Given the description of an element on the screen output the (x, y) to click on. 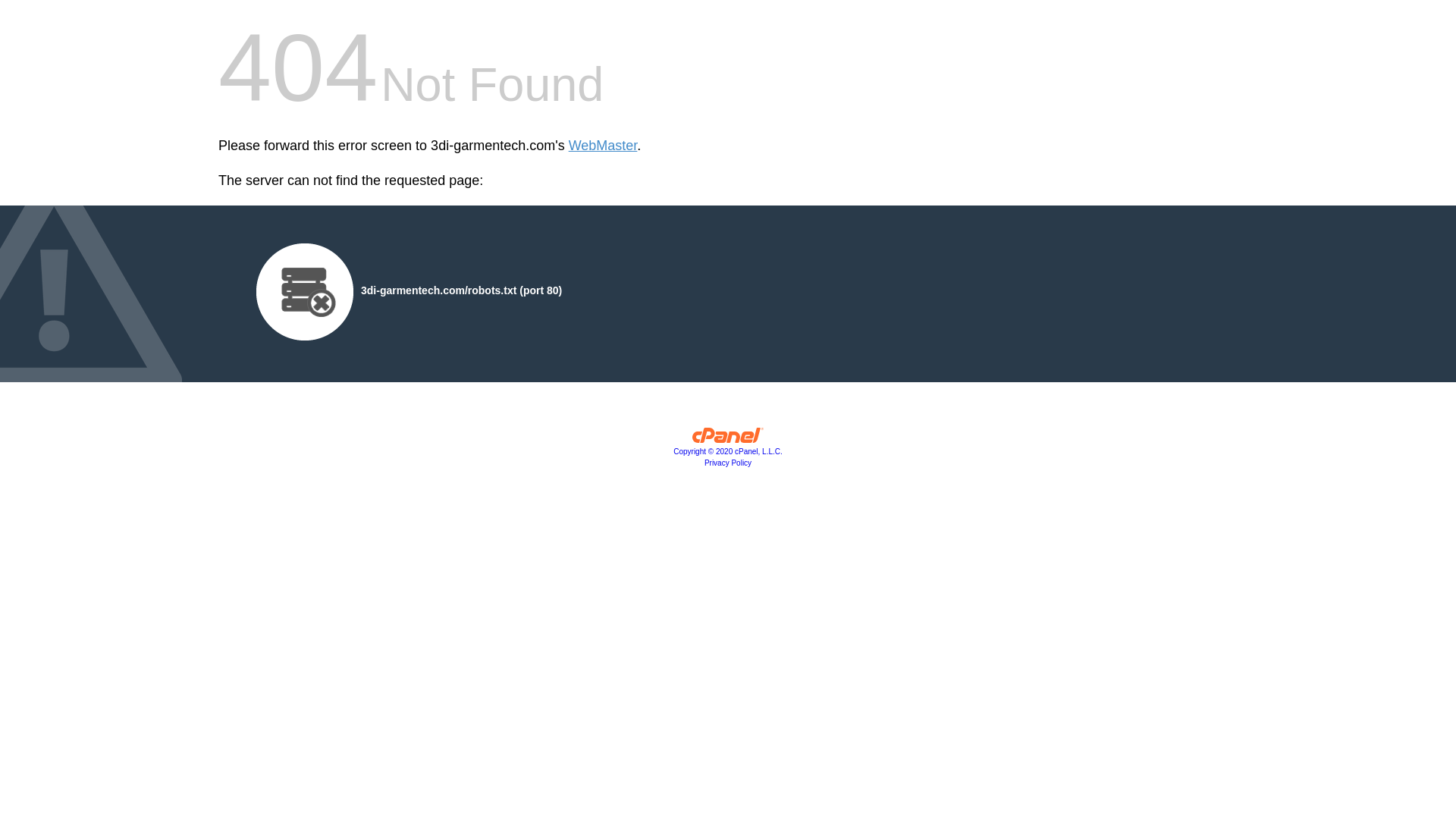
cPanel, Inc. Element type: hover (728, 439)
WebMaster Element type: text (602, 145)
Privacy Policy Element type: text (727, 462)
